Given the description of an element on the screen output the (x, y) to click on. 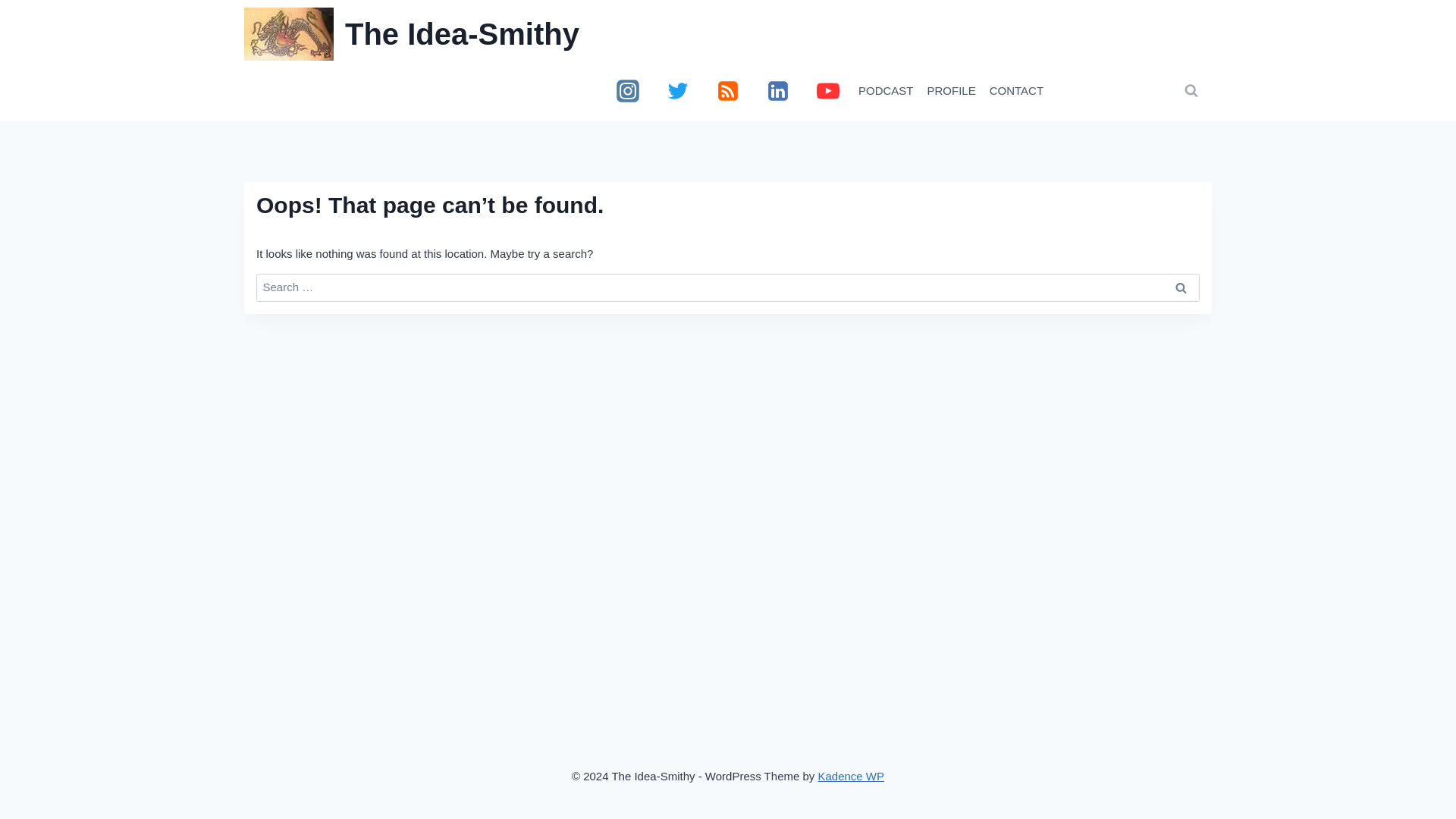
CONTACT (1015, 91)
Kadence WP (849, 775)
Search (1180, 287)
The Idea-Smithy (411, 33)
Search (1180, 287)
PROFILE (951, 91)
Search (1180, 287)
PODCAST (885, 91)
